Given the description of an element on the screen output the (x, y) to click on. 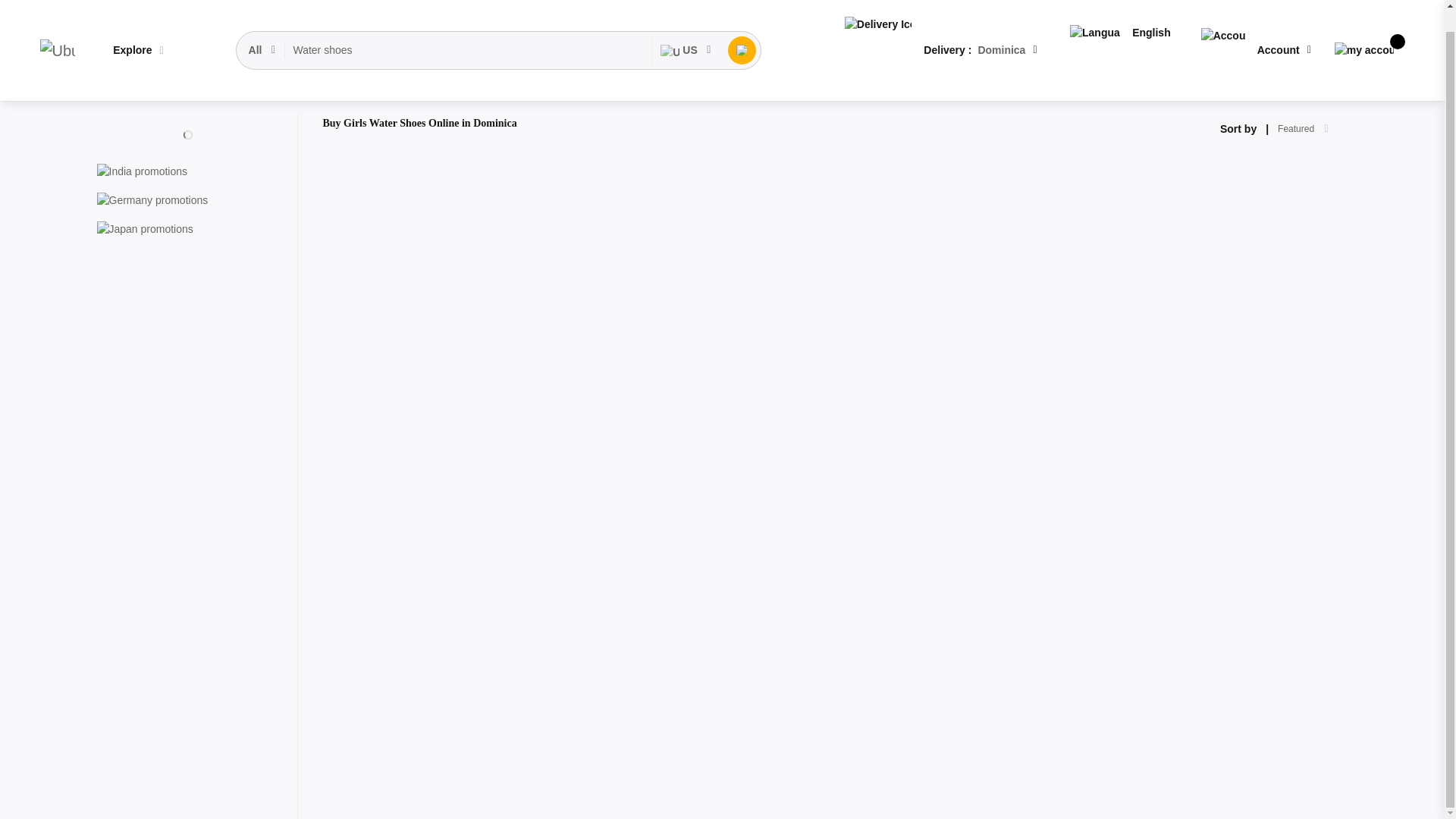
Clothing Shoes Jewelry (215, 89)
Home Page (124, 89)
Cart (1364, 27)
Water shoes (468, 27)
All (263, 28)
Home Page (124, 89)
Ubuy (57, 28)
US (685, 28)
Water shoes (468, 27)
Clothing Shoes Jewelry (215, 89)
